Given the description of an element on the screen output the (x, y) to click on. 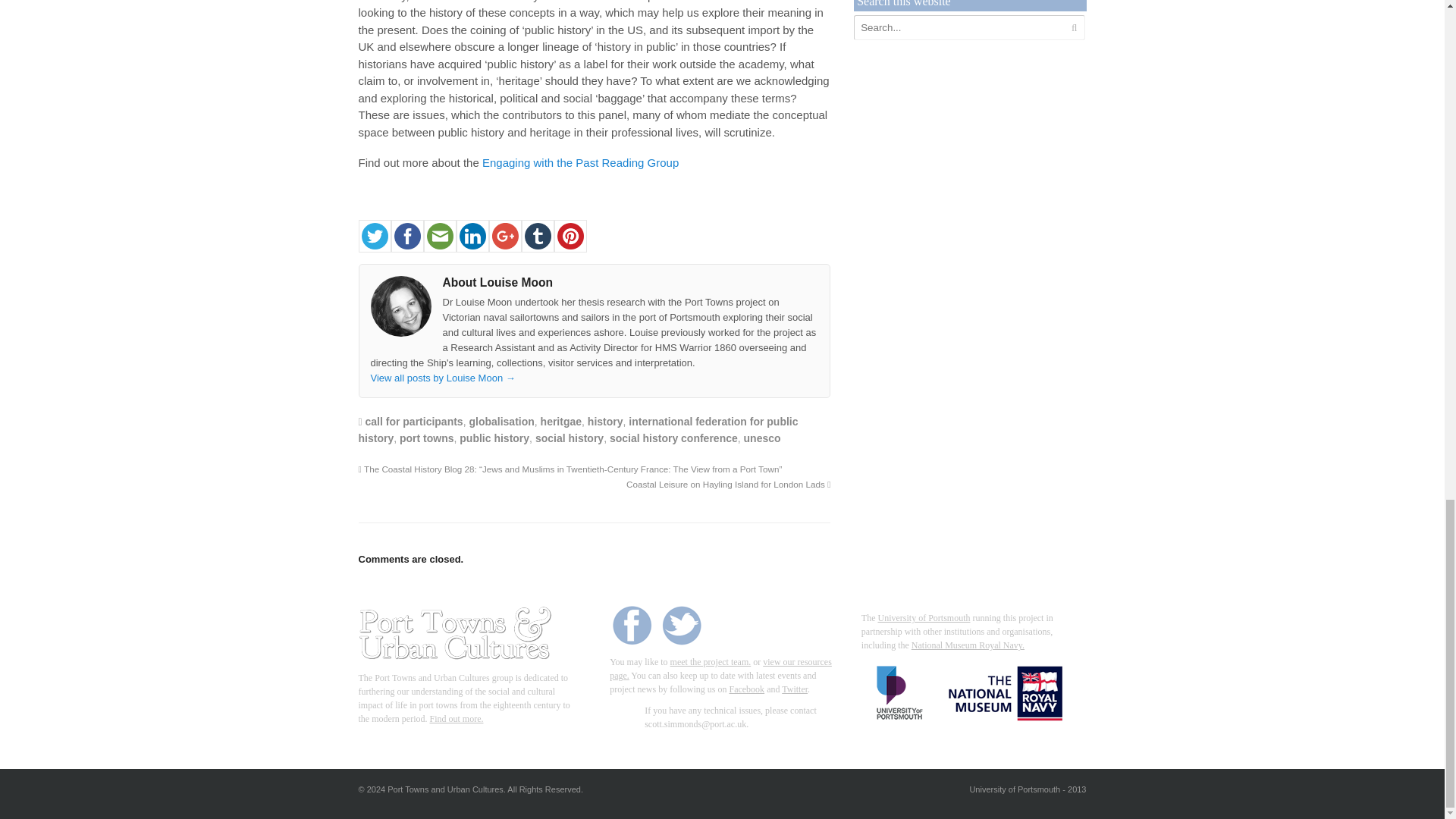
facebook (407, 236)
google (504, 236)
twitter (374, 236)
email (439, 236)
Engaging with the Past Reading Group (579, 162)
linkedin (473, 236)
Search... (958, 27)
